Given the description of an element on the screen output the (x, y) to click on. 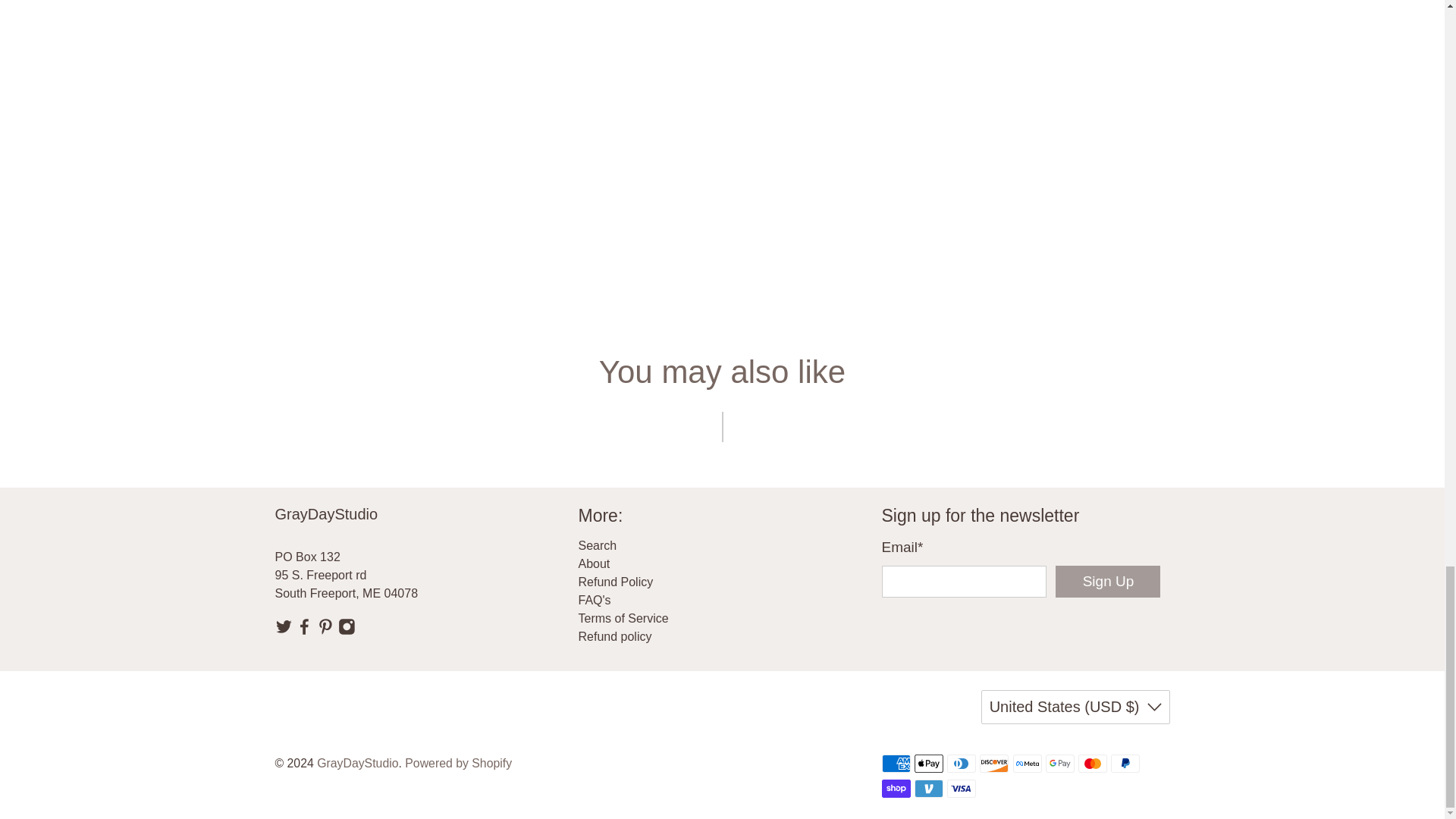
GrayDayStudio on Twitter (283, 631)
GrayDayStudio on Facebook (304, 631)
GrayDayStudio on Pinterest (325, 631)
Apple Pay (928, 763)
American Express (895, 763)
GrayDayStudio (390, 524)
